Given the description of an element on the screen output the (x, y) to click on. 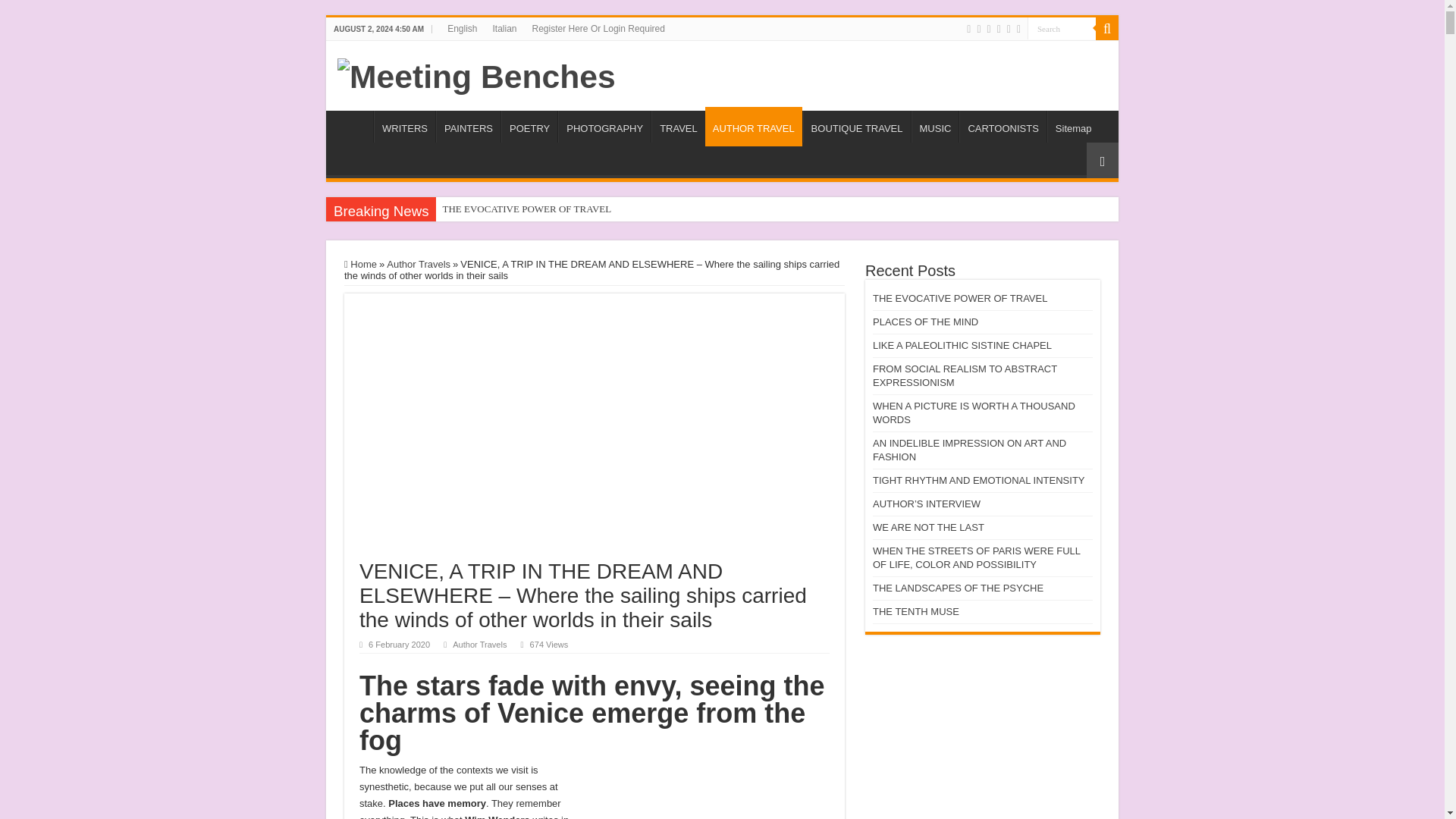
Sitemap (1072, 126)
Search (1061, 28)
CARTOONISTS (1002, 126)
THE EVOCATIVE POWER OF TRAVEL (571, 209)
MUSIC (935, 126)
Search (1107, 28)
TRAVEL (677, 126)
BOUTIQUE TRAVEL (857, 126)
AUTHOR TRAVEL (753, 126)
PHOTOGRAPHY (603, 126)
Home (352, 126)
POETRY (528, 126)
Search (1061, 28)
Register Here Or Login Required (598, 28)
English (461, 28)
